Given the description of an element on the screen output the (x, y) to click on. 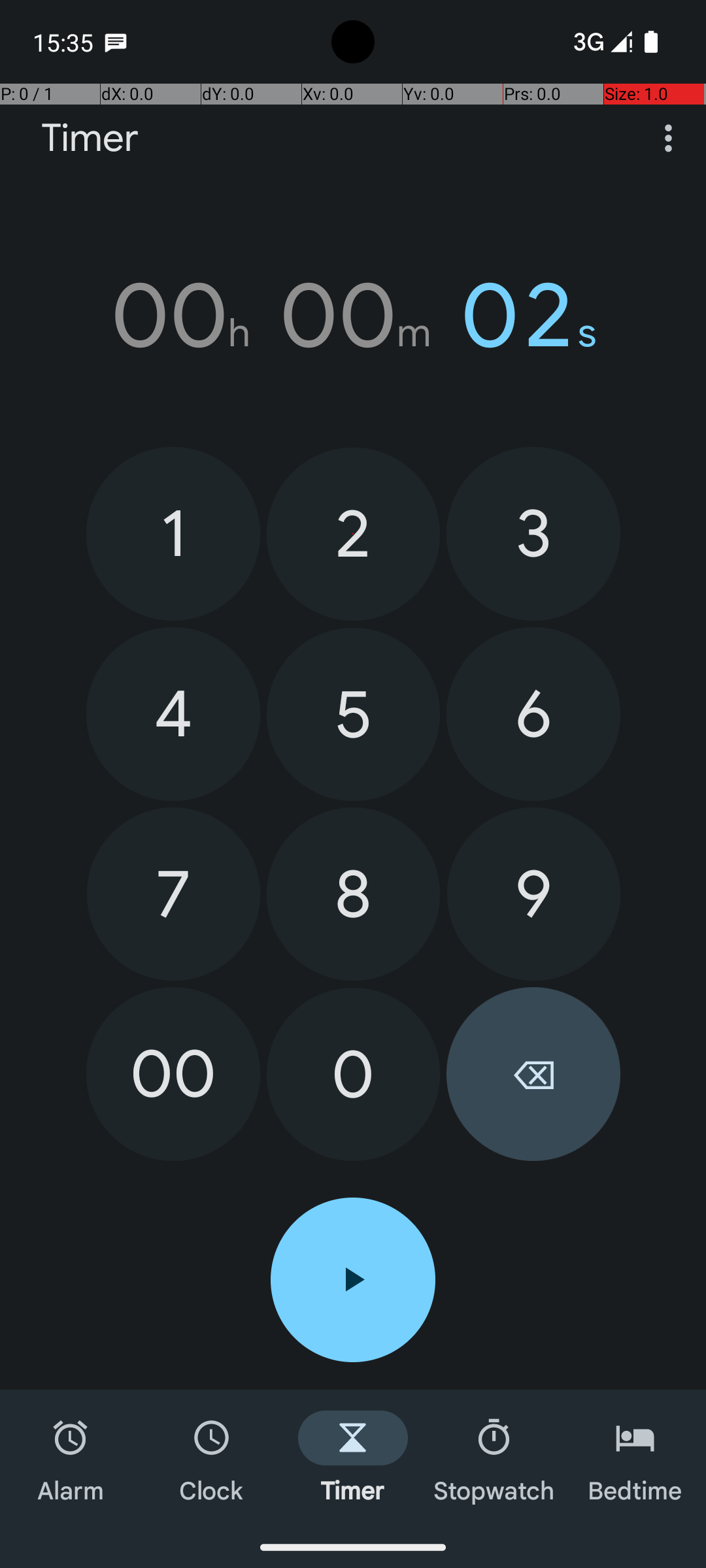
00h 00m 02s Element type: android.widget.TextView (353, 315)
